Given the description of an element on the screen output the (x, y) to click on. 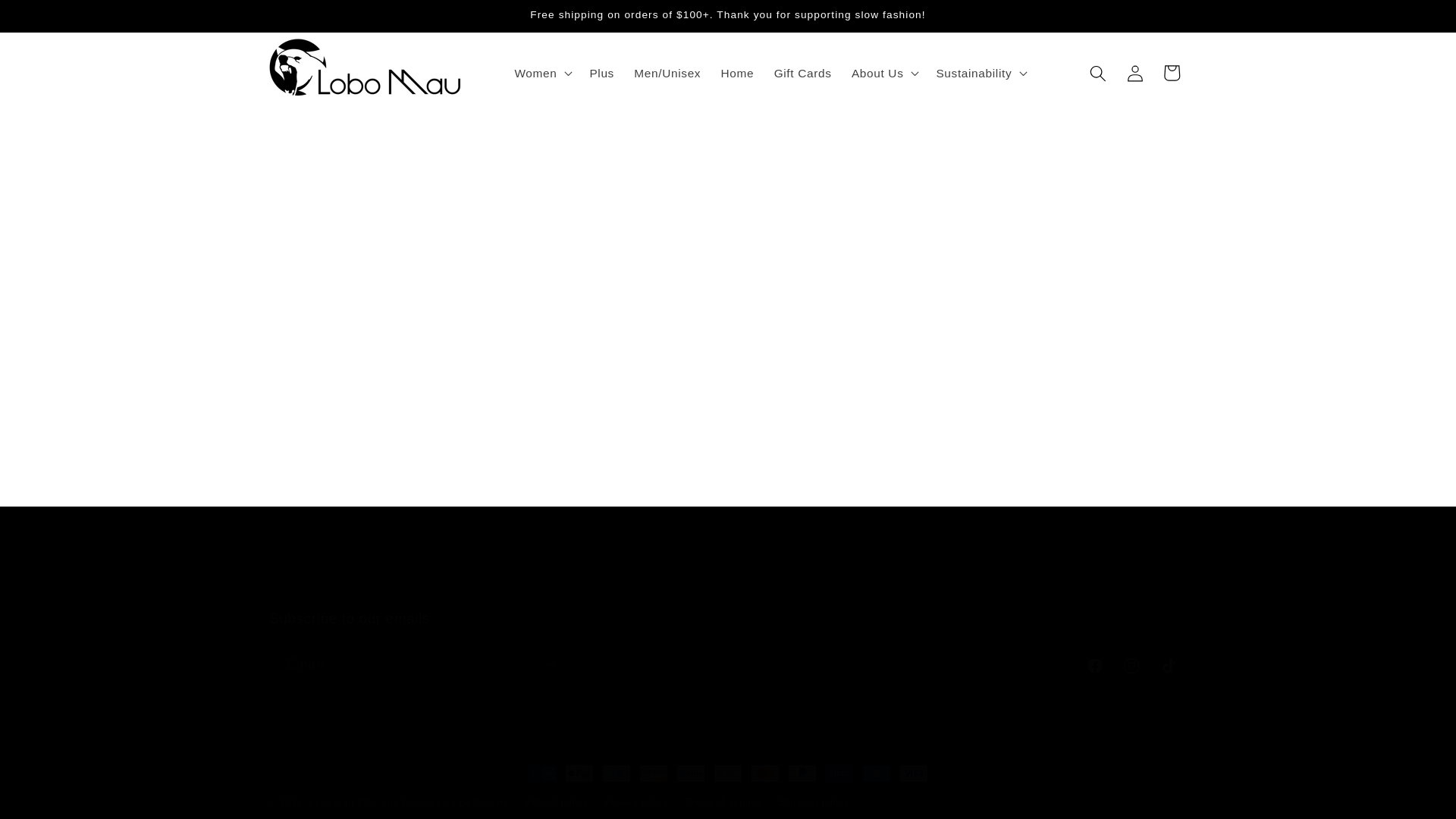
Skip to content (50, 20)
Home (736, 73)
Shopify online store chat (60, 781)
Plus (601, 73)
Gift Cards (801, 73)
